Given the description of an element on the screen output the (x, y) to click on. 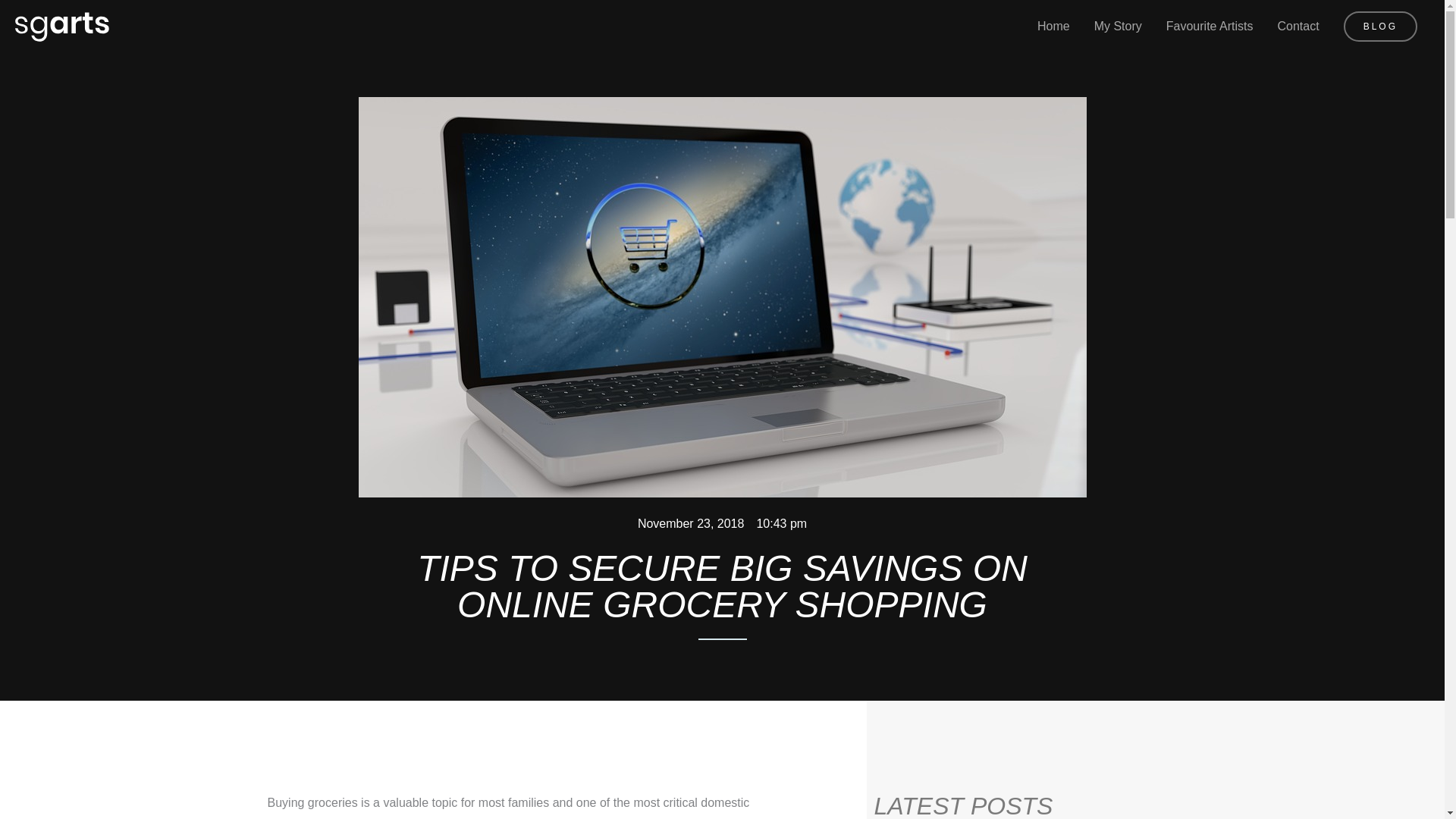
BLOG (1379, 26)
My Story (1117, 26)
November 23, 2018 (690, 523)
Favourite Artists (1209, 26)
Contact (1297, 26)
Home (1053, 26)
